Given the description of an element on the screen output the (x, y) to click on. 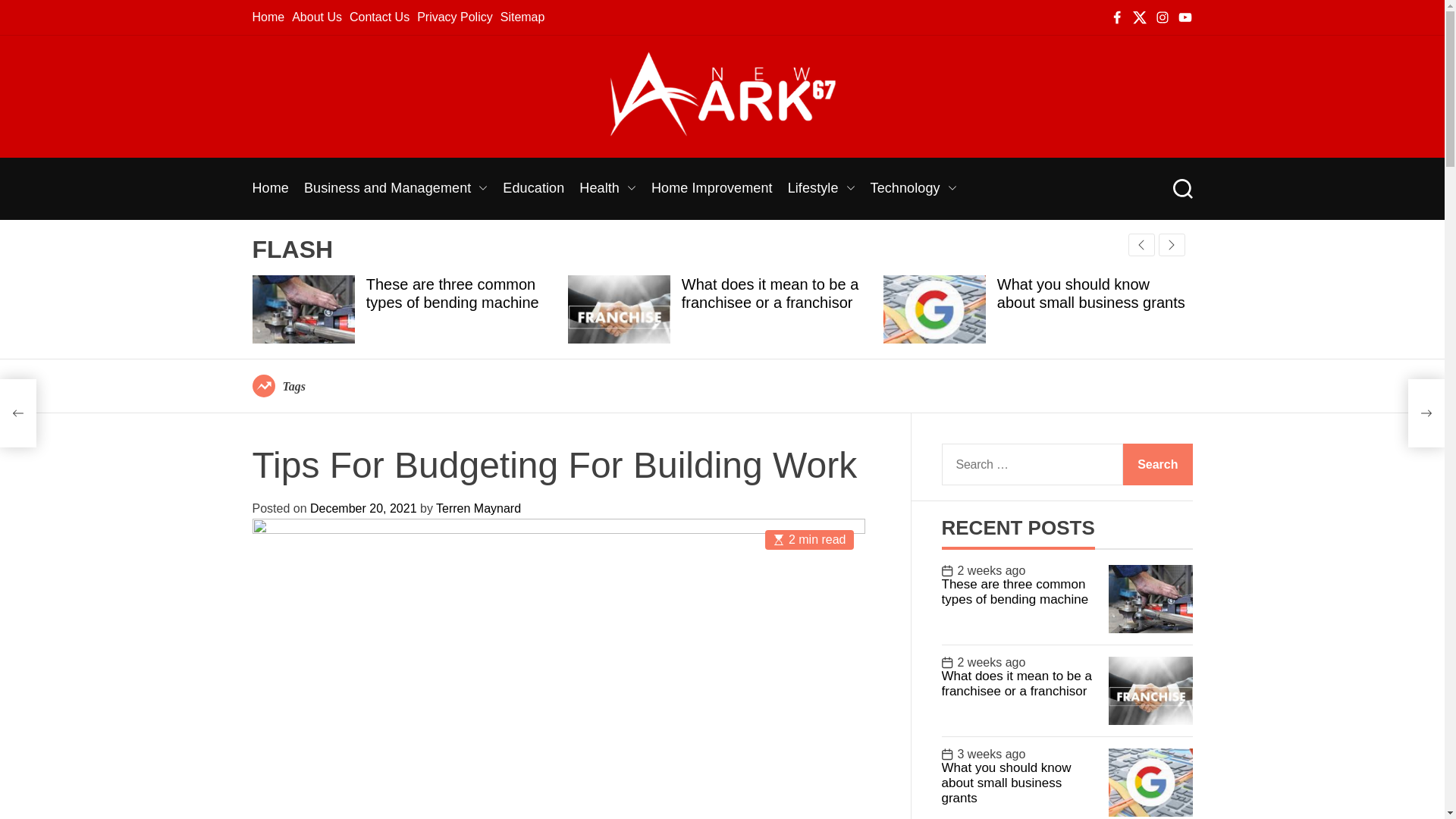
Home (269, 188)
Search (1182, 189)
Lifestyle (821, 188)
Health (607, 188)
instagram (1161, 17)
Sitemap (522, 16)
Education (533, 188)
Business and Management (395, 188)
Contact Us (379, 16)
Home (267, 16)
